Given the description of an element on the screen output the (x, y) to click on. 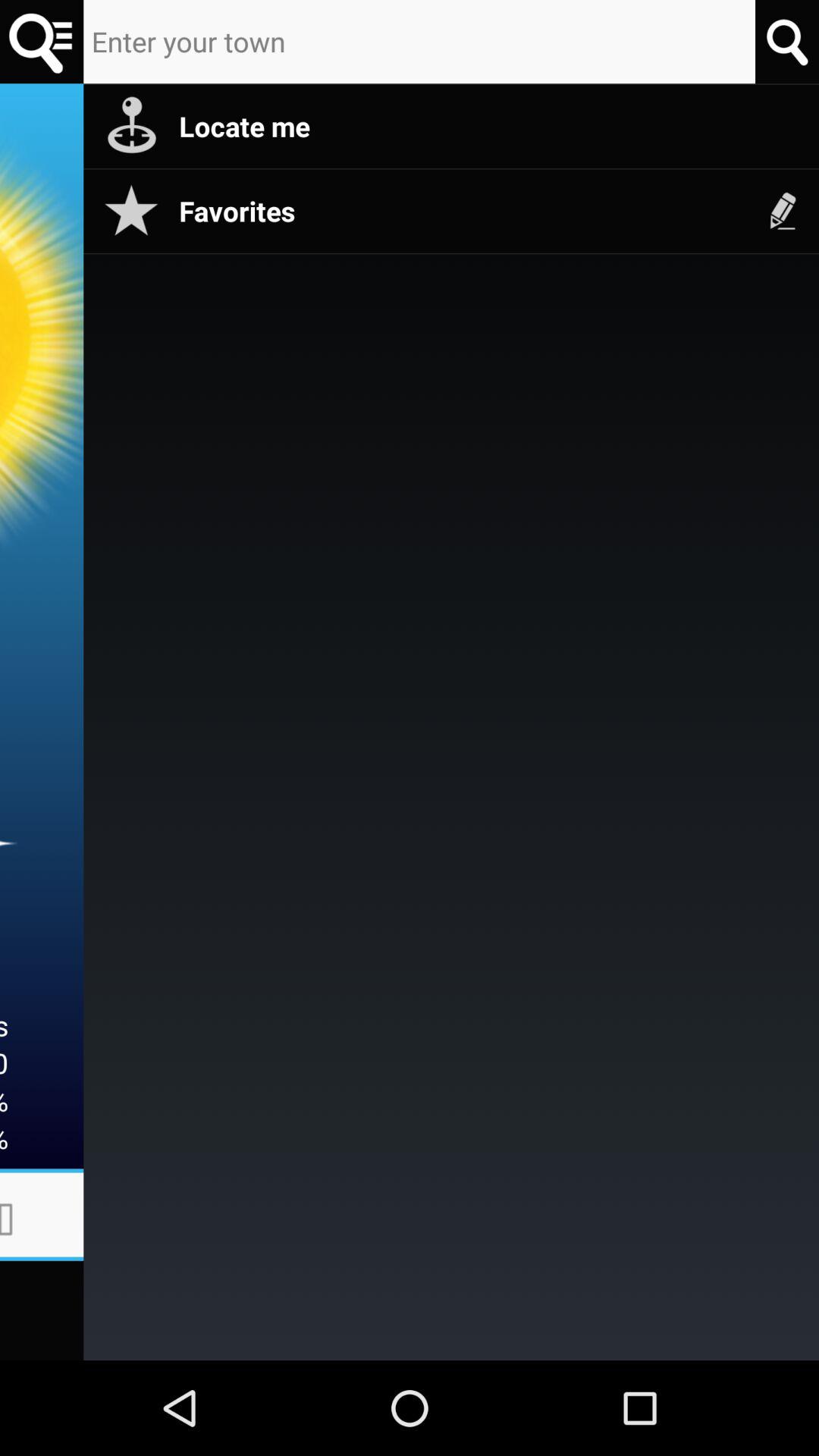
click on the search icon (787, 42)
click on the pencil or edit symbol (783, 210)
select the icon before locate me on the page (130, 126)
